Given the description of an element on the screen output the (x, y) to click on. 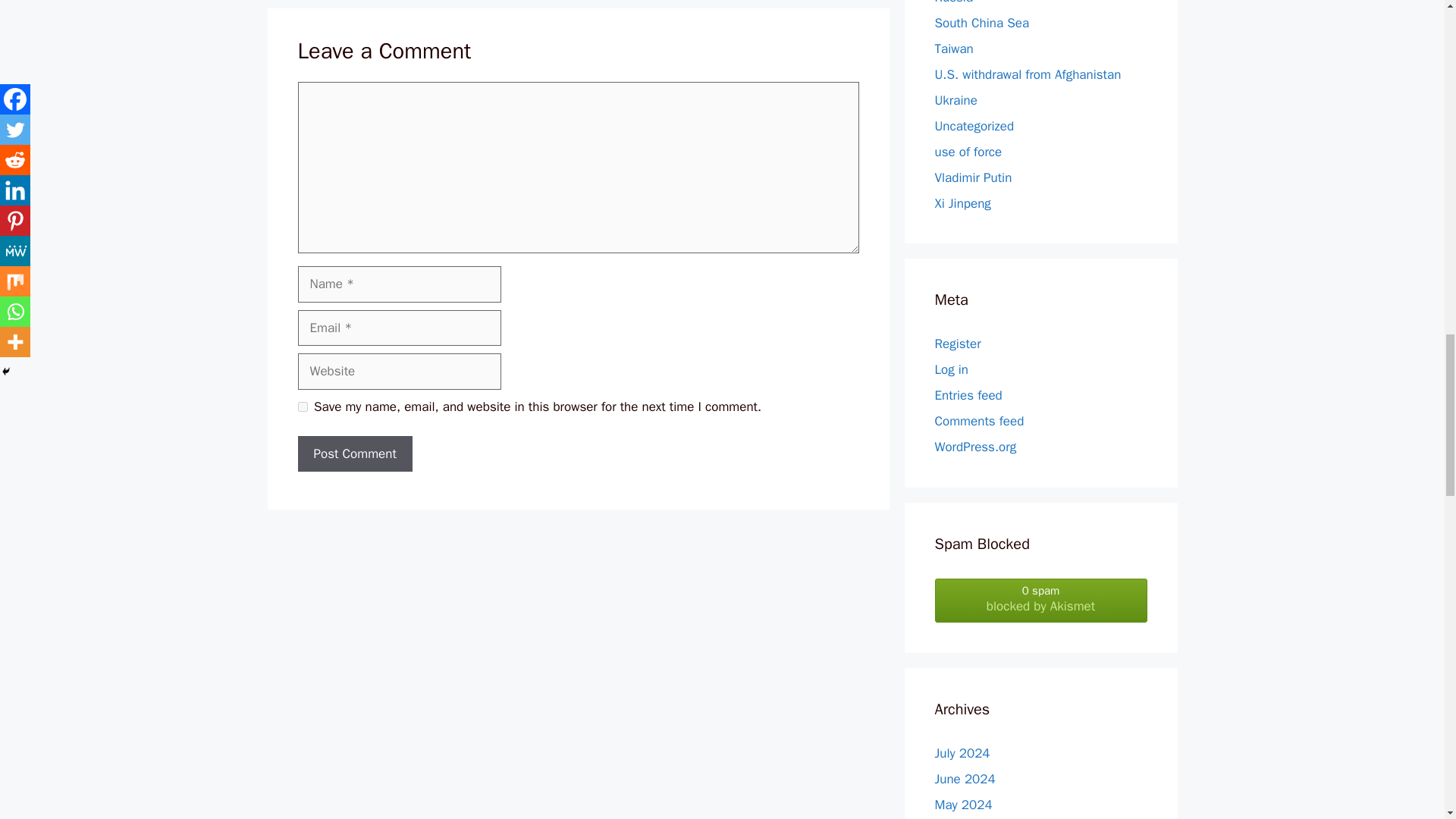
Post Comment (354, 453)
yes (302, 406)
Post Comment (354, 453)
